Given the description of an element on the screen output the (x, y) to click on. 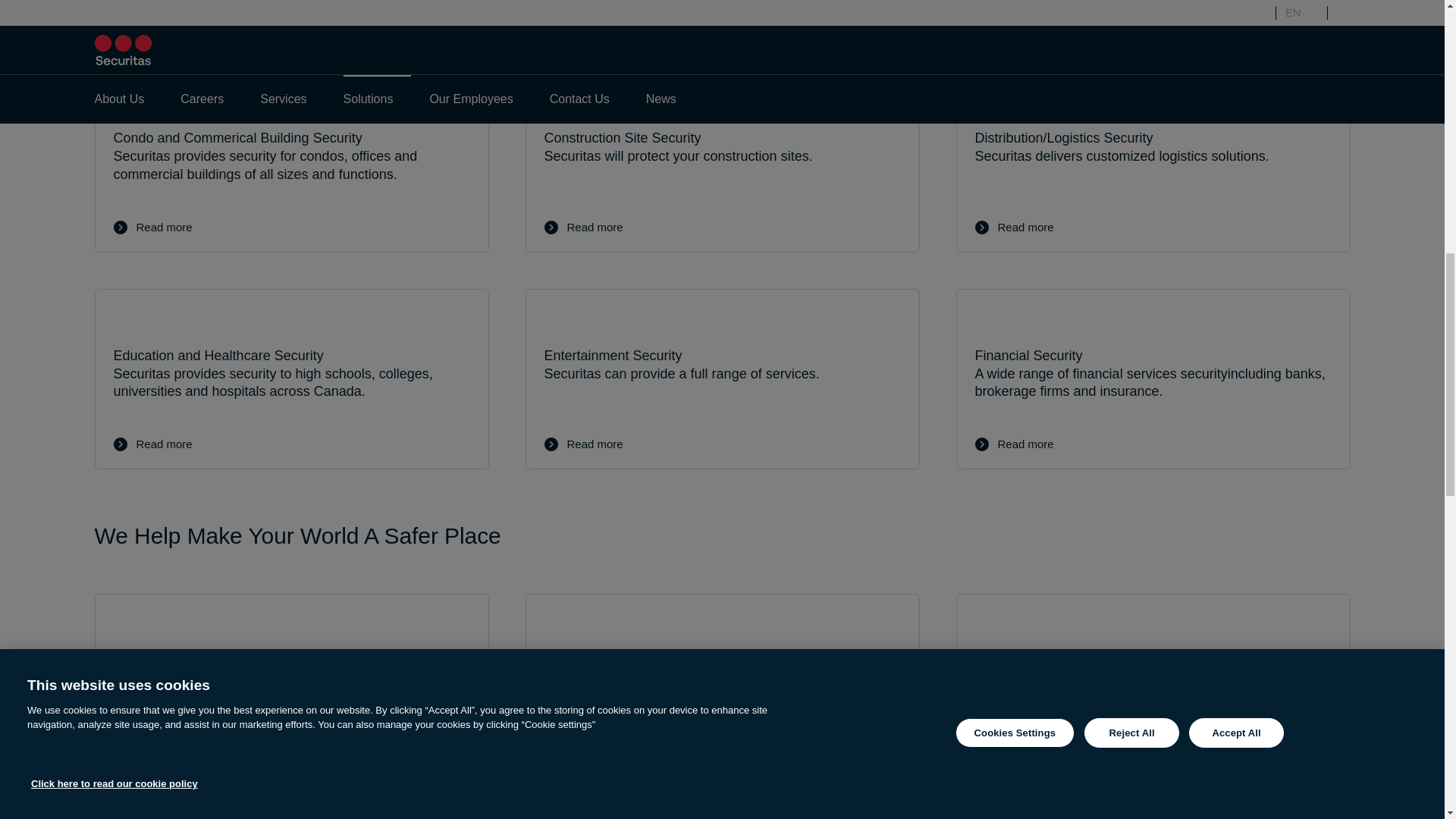
Retail Security (290, 815)
Entertainment Security (721, 379)
Financial Security (1152, 379)
Construction Site Security (721, 161)
Maritime Security (290, 683)
Public Government Security (1152, 815)
Condo and Commerical Building Security (290, 161)
Education and Healthcare Security (290, 379)
Mining Security (721, 683)
